Given the description of an element on the screen output the (x, y) to click on. 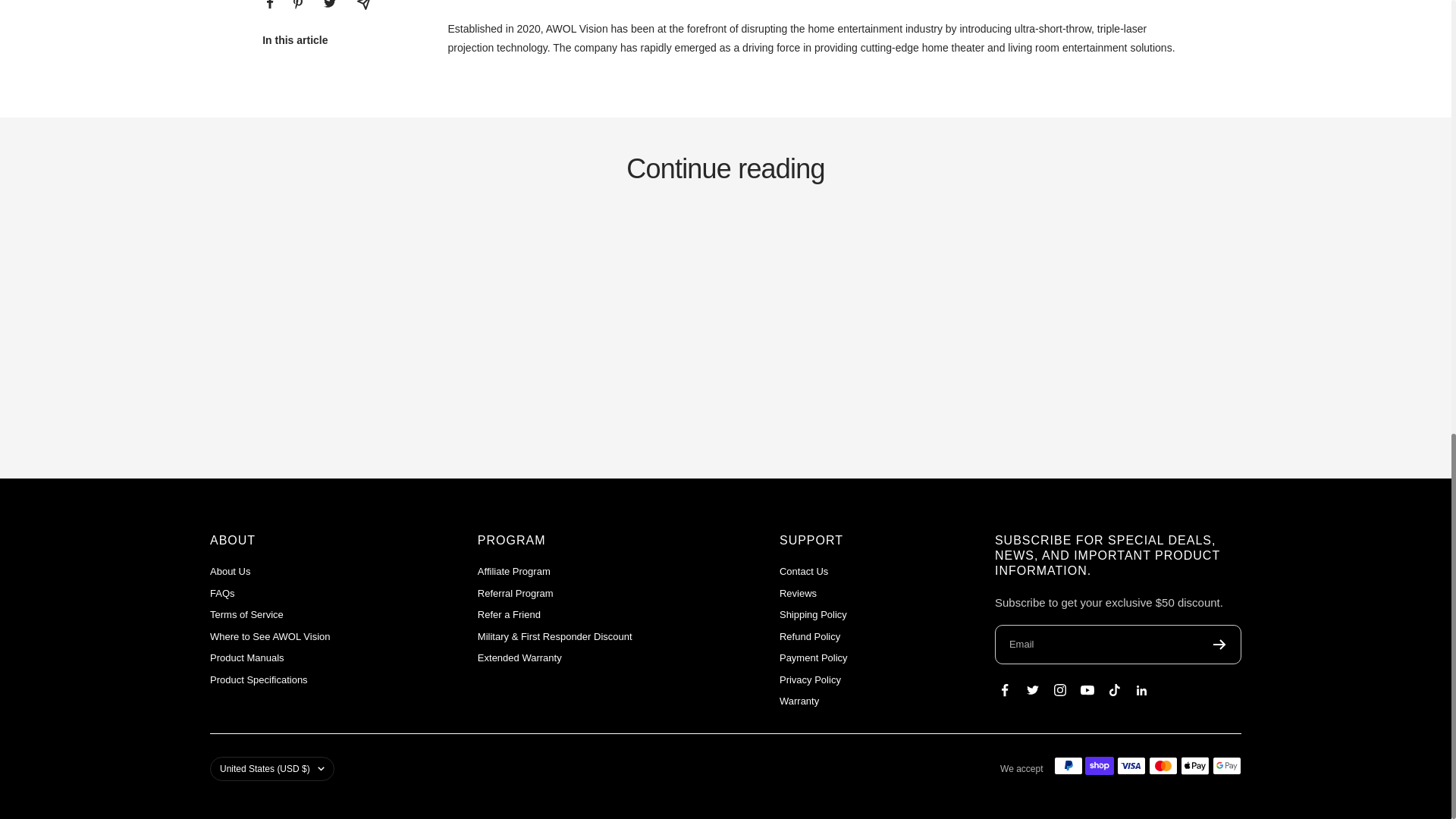
Register (1218, 644)
Shop Pay (1098, 765)
PayPal (1068, 765)
